Given the description of an element on the screen output the (x, y) to click on. 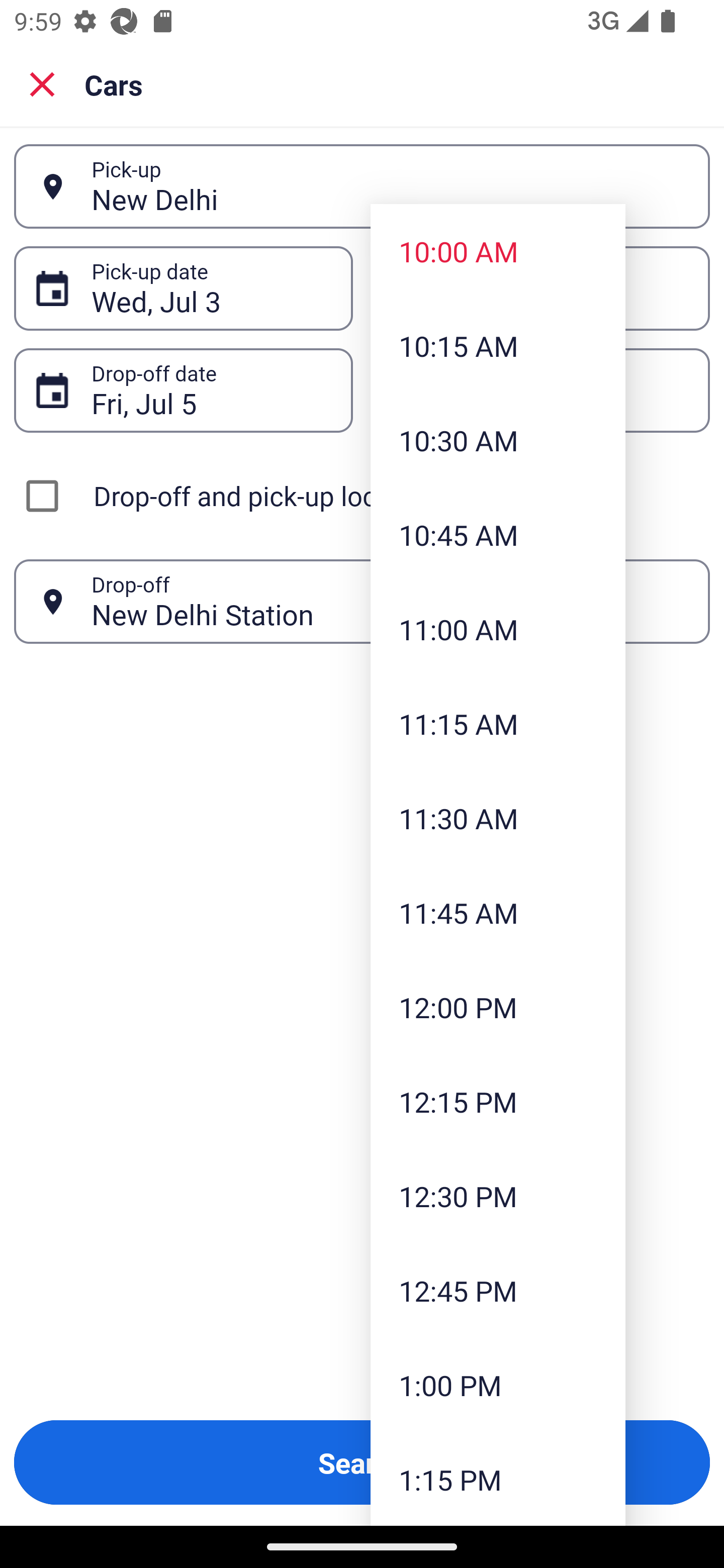
10:00 AM (497, 250)
10:15 AM (497, 345)
10:30 AM (497, 440)
10:45 AM (497, 534)
11:00 AM (497, 628)
11:15 AM (497, 723)
11:30 AM (497, 818)
11:45 AM (497, 912)
12:00 PM (497, 1006)
12:15 PM (497, 1101)
12:30 PM (497, 1196)
12:45 PM (497, 1290)
1:00 PM (497, 1384)
1:15 PM (497, 1478)
